Given the description of an element on the screen output the (x, y) to click on. 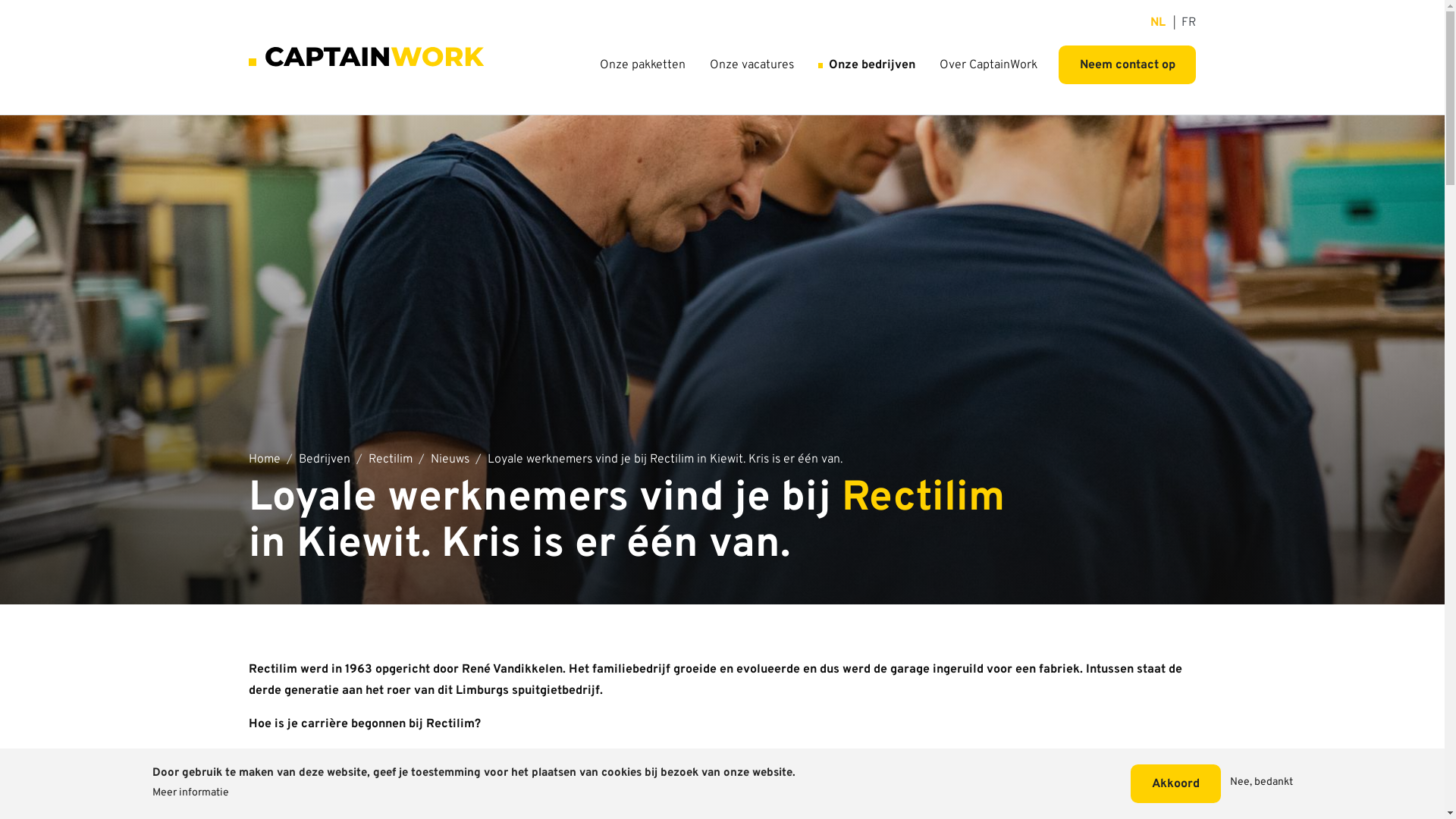
Onze vacatures Element type: text (751, 64)
FR Element type: text (1188, 22)
Home Element type: text (264, 459)
Uploaden Element type: text (47, 19)
Nee, bedankt Element type: text (1261, 783)
Neem contact op Element type: text (1126, 64)
Rectilim Element type: text (390, 459)
Overslaan en naar de inhoud gaan Element type: text (722, 7)
Bedrijven Element type: text (324, 459)
Meer informatie Element type: text (189, 793)
Onze bedrijven Element type: text (866, 64)
Over CaptainWork Element type: text (988, 64)
Nieuws Element type: text (449, 459)
NL Element type: text (1157, 22)
Akkoord Element type: text (1175, 783)
Onze pakketten Element type: text (642, 64)
